Given the description of an element on the screen output the (x, y) to click on. 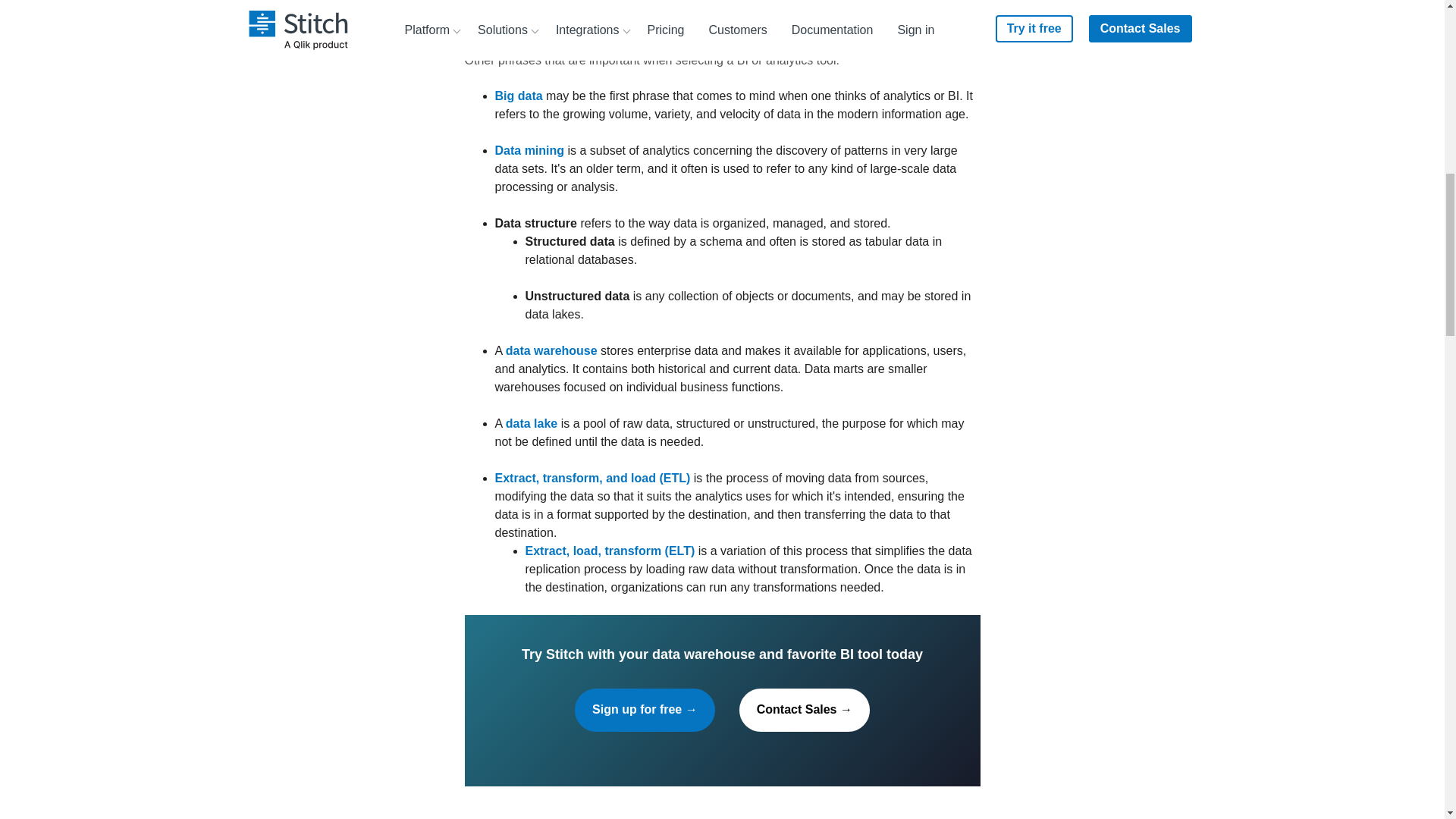
data warehouse (550, 350)
Big data (518, 95)
Data mining (529, 150)
data lake (531, 422)
